Given the description of an element on the screen output the (x, y) to click on. 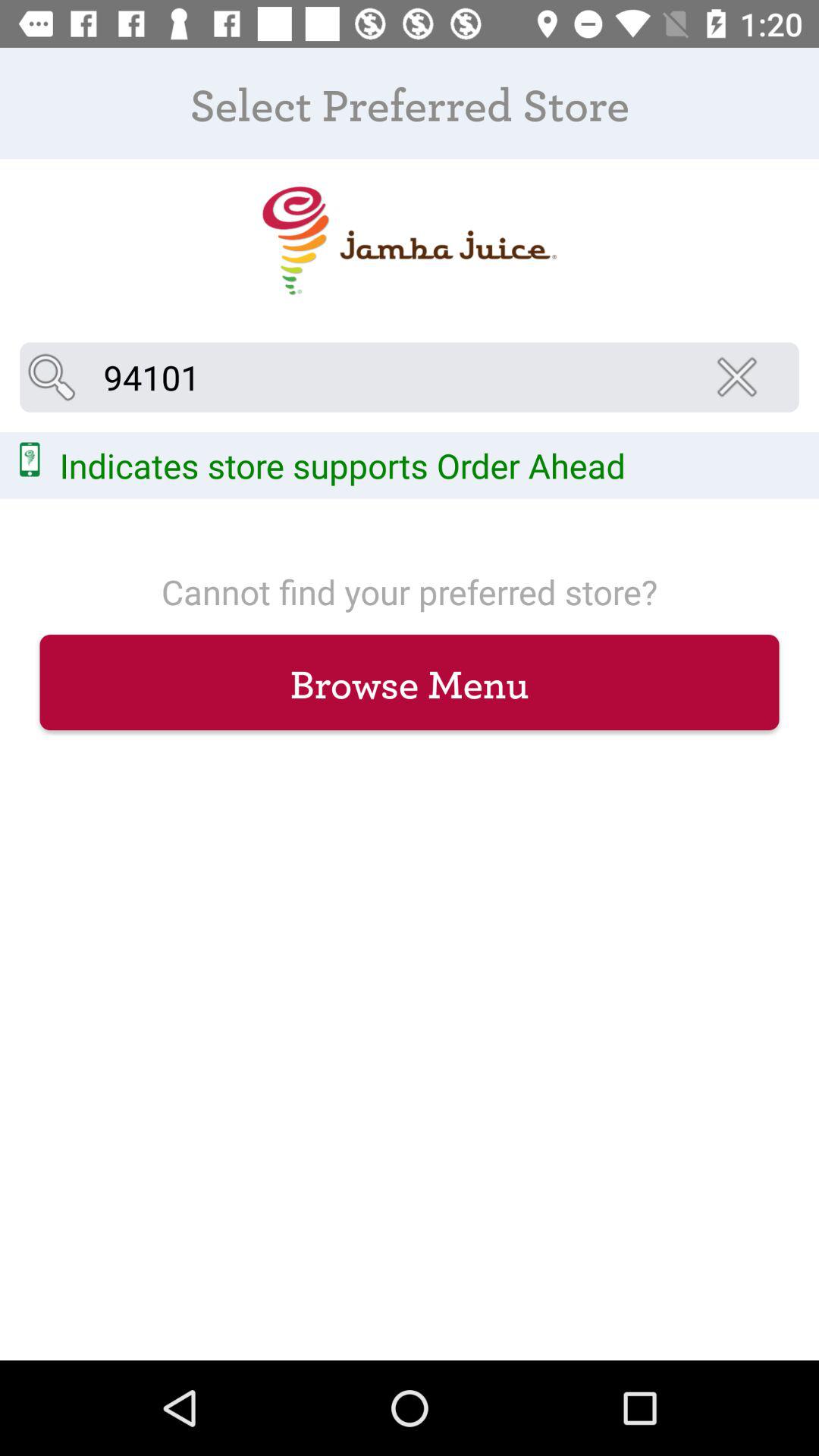
tap the item above browse menu (742, 376)
